Given the description of an element on the screen output the (x, y) to click on. 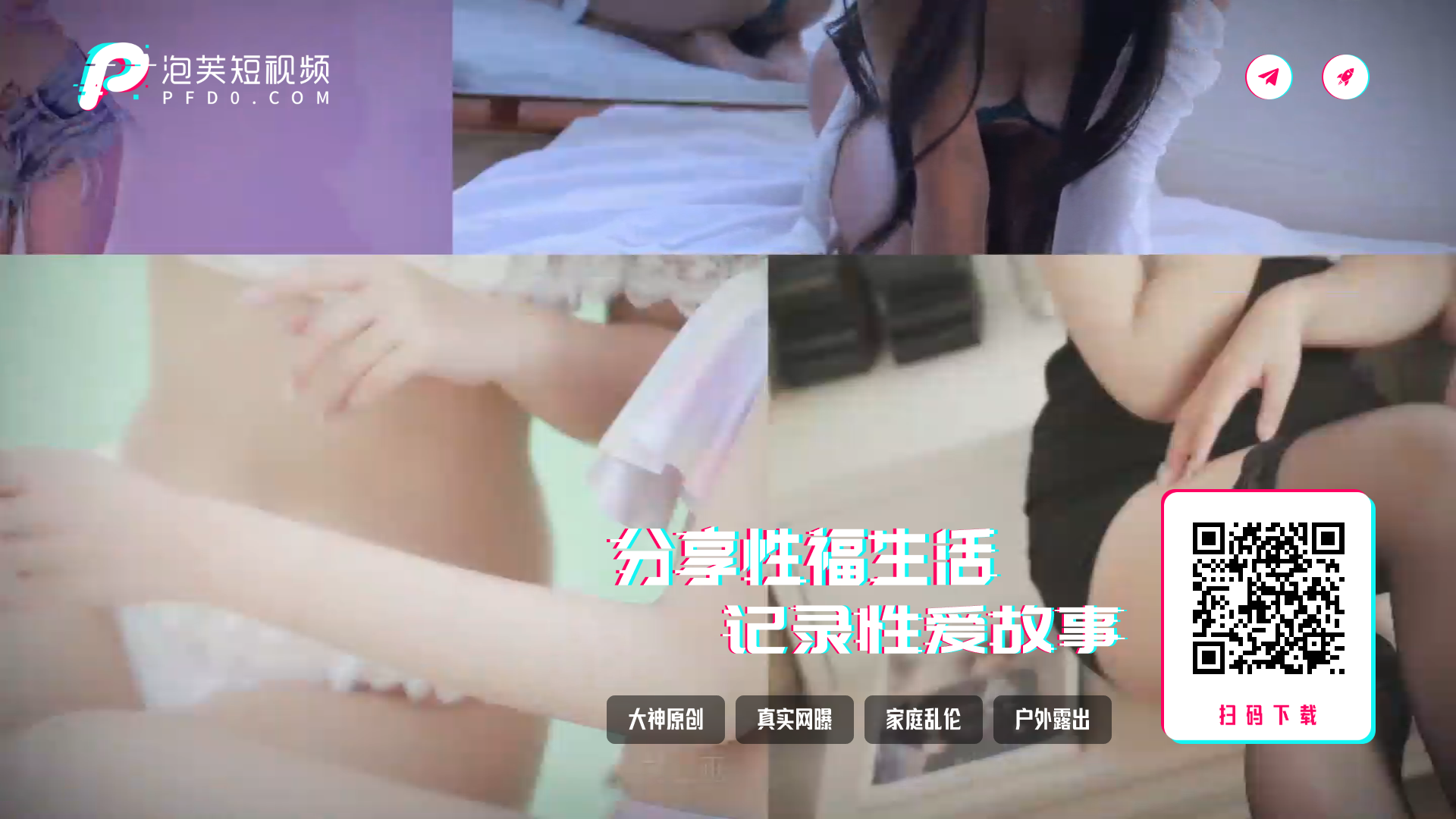
https://645sf.zm7c0.cc/?dc=PFAPP Element type: hover (1267, 598)
